Given the description of an element on the screen output the (x, y) to click on. 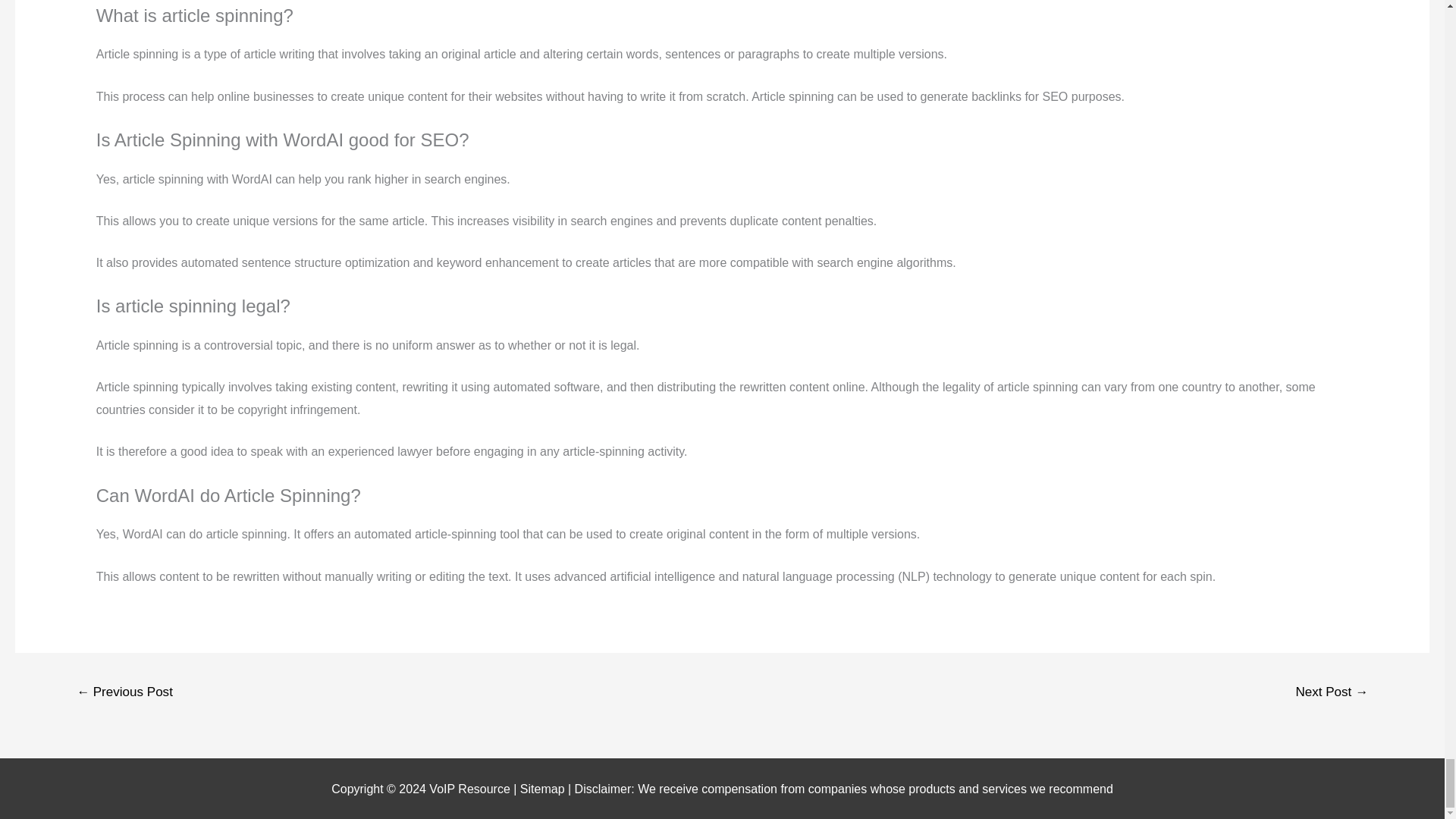
Sitemap (543, 788)
